Given the description of an element on the screen output the (x, y) to click on. 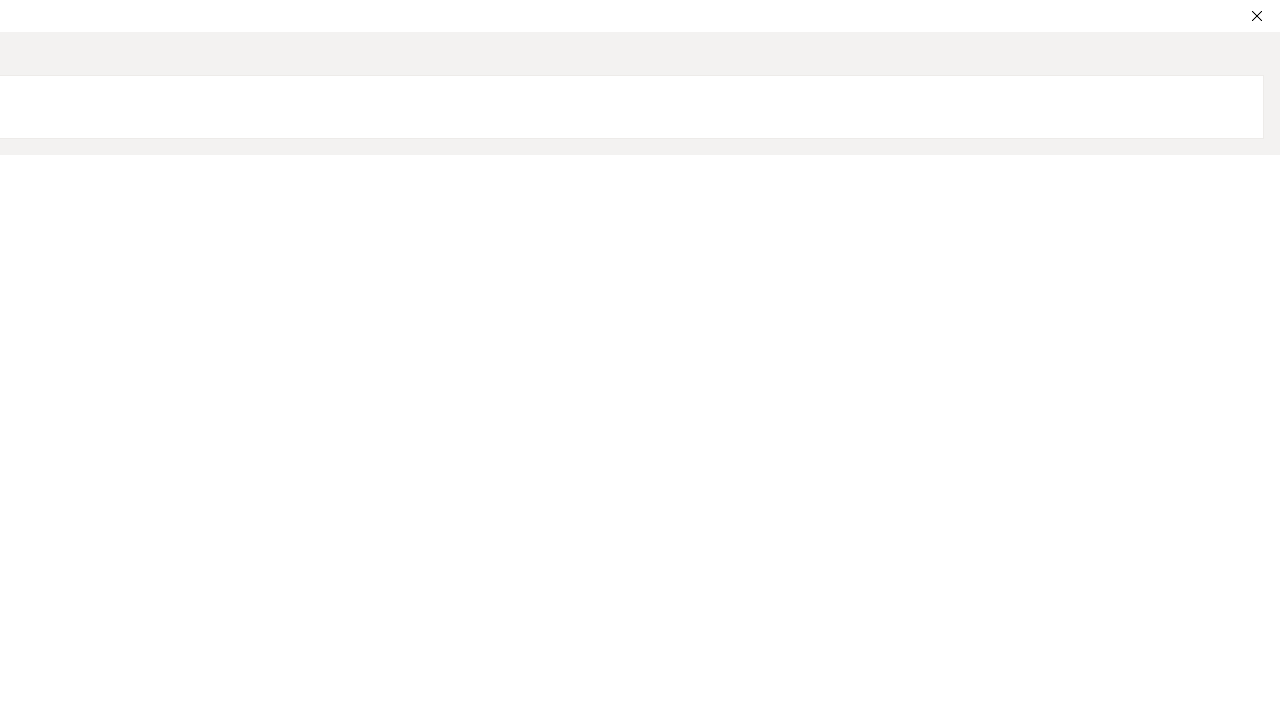
Close Add an account (1256, 15)
